Given the description of an element on the screen output the (x, y) to click on. 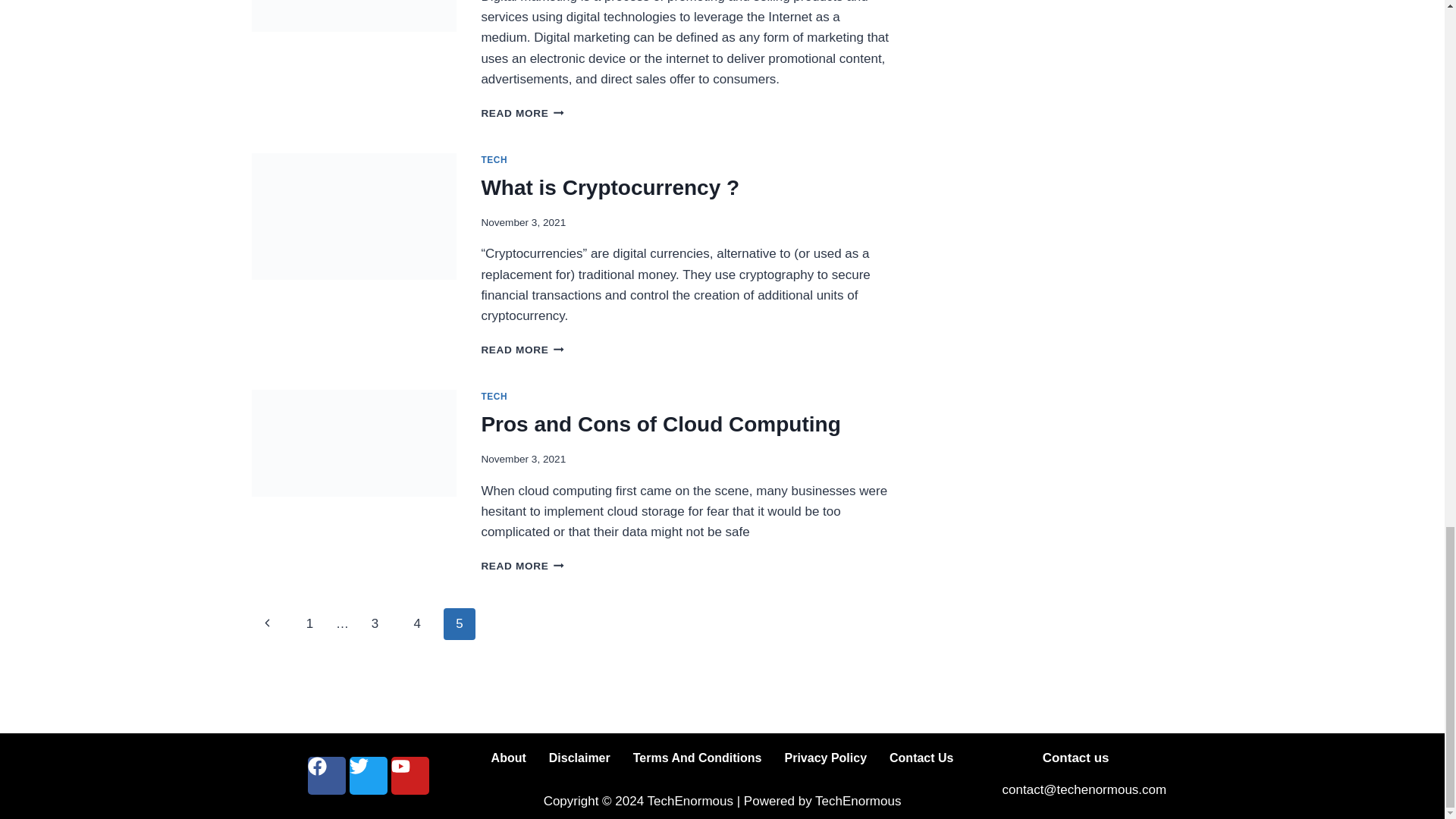
TECH (493, 159)
Pros and Cons of Cloud Computing 7 (354, 442)
READ MORE (522, 349)
READ MORE (522, 112)
What is Cryptocurrency ? 6 (354, 216)
What is Cryptocurrency ? (609, 187)
